Given the description of an element on the screen output the (x, y) to click on. 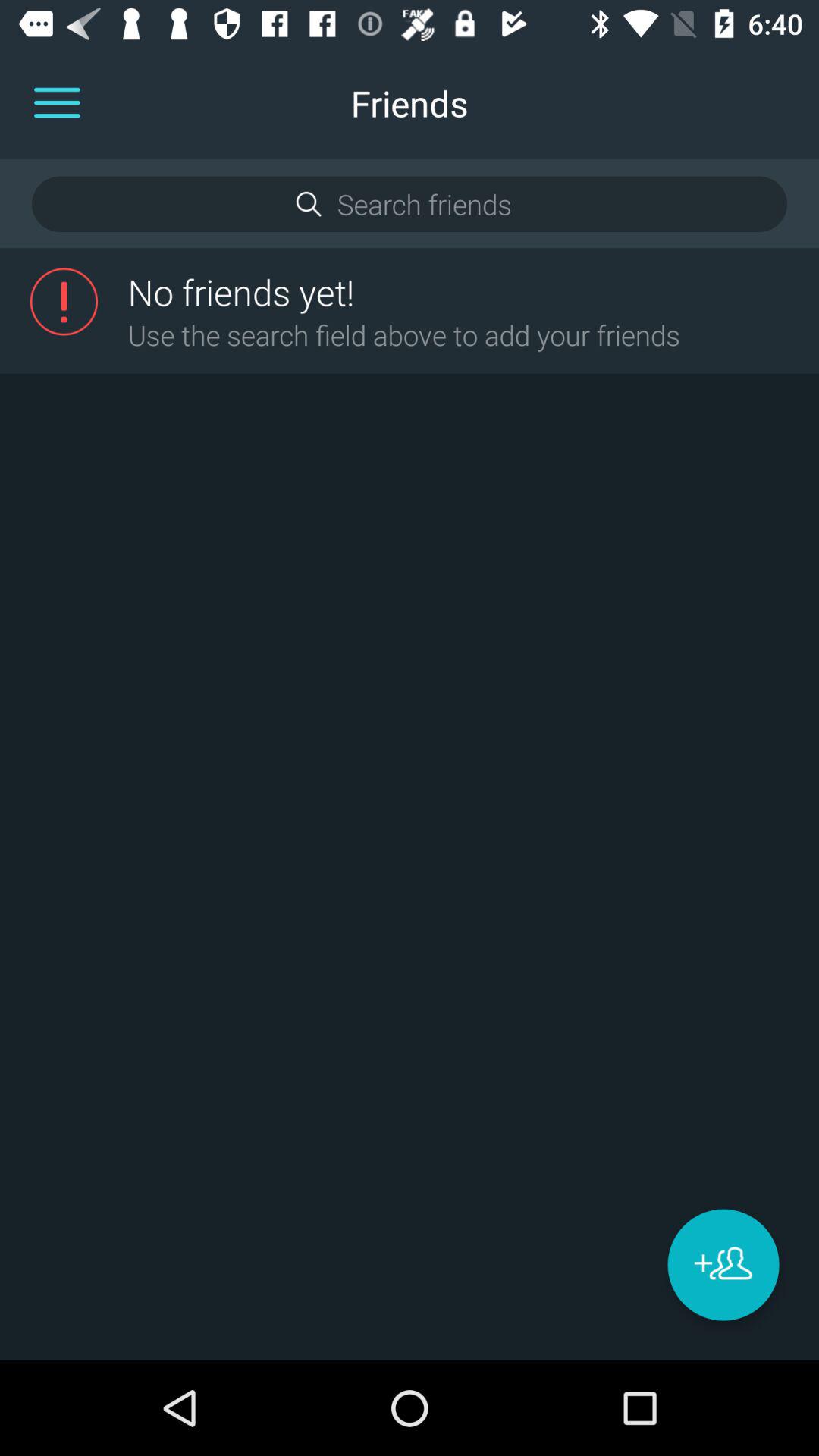
menu option (57, 103)
